Given the description of an element on the screen output the (x, y) to click on. 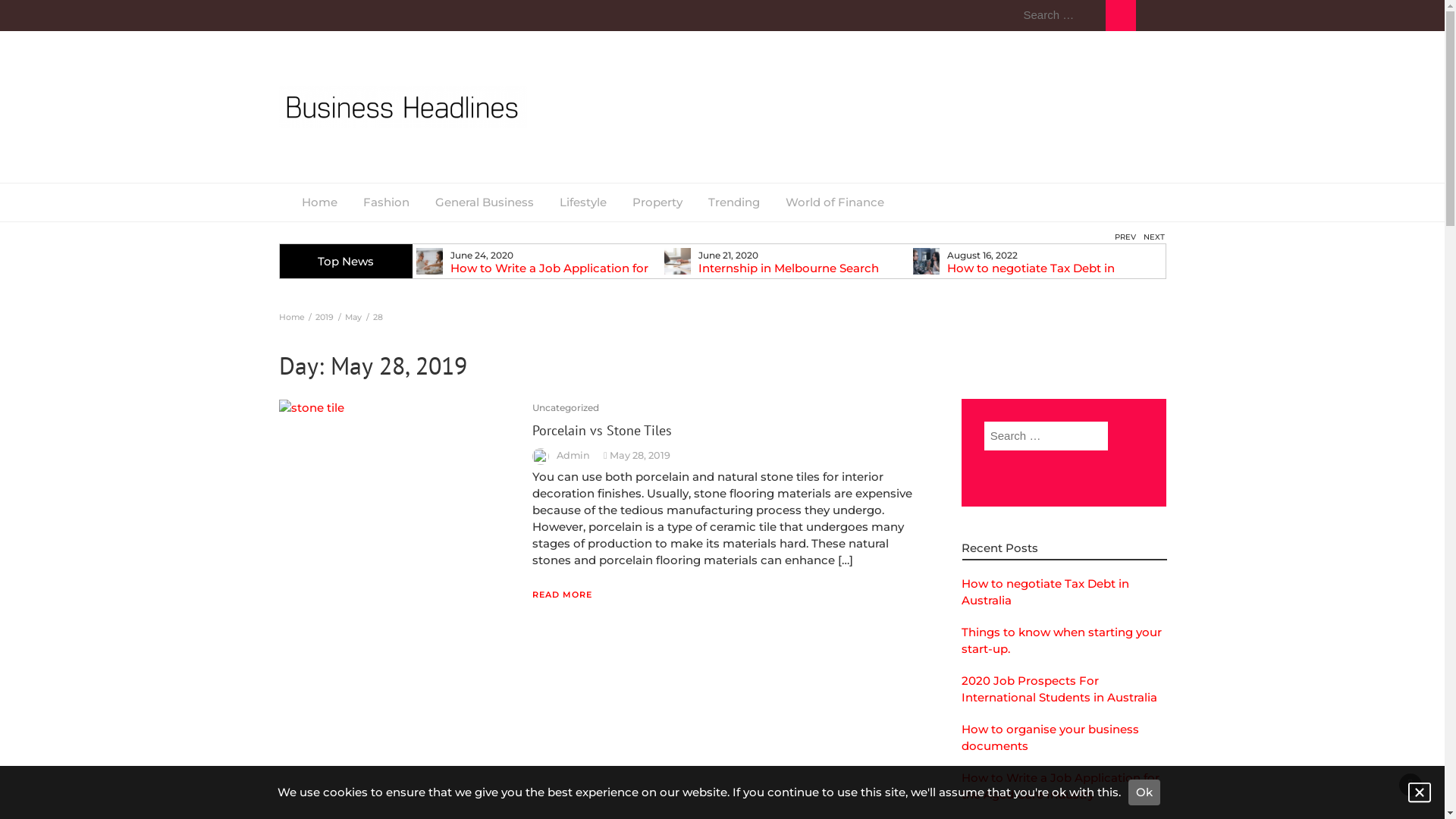
Fashion Element type: text (385, 202)
Search for: Element type: hover (1059, 15)
May Element type: text (353, 317)
World of Finance Element type: text (833, 202)
Uncategorized Element type: text (565, 407)
How to organise your business documents Element type: text (1050, 737)
How to Write a Job Application for the Aged Care Industry Element type: text (1060, 785)
How to organise your business documents Element type: text (291, 273)
How to negotiate Tax Debt in Australia Element type: text (1045, 591)
Ok Element type: text (1144, 792)
Home Element type: text (291, 317)
Search Element type: text (997, 465)
Home Element type: text (318, 202)
Trending Element type: text (733, 202)
2019 Element type: text (324, 317)
May 28, 2019 Element type: text (639, 455)
Search for: Element type: hover (1046, 436)
Things to know when starting your start-up. Element type: text (1061, 639)
Admin Element type: text (572, 455)
2020 Job Prospects For International Students in Australia Element type: text (1059, 688)
READ MORE Element type: text (562, 594)
How to negotiate Tax Debt in Australia Element type: text (1037, 273)
Search Element type: text (1120, 15)
Property Element type: text (656, 202)
General Business Element type: text (483, 202)
Porcelain vs Stone Tiles Element type: text (601, 430)
Lifestyle Element type: text (582, 202)
Internship in Melbourne Search Element type: text (788, 266)
How to Write a Job Application for the Aged Care Industry Element type: text (540, 273)
